Given the description of an element on the screen output the (x, y) to click on. 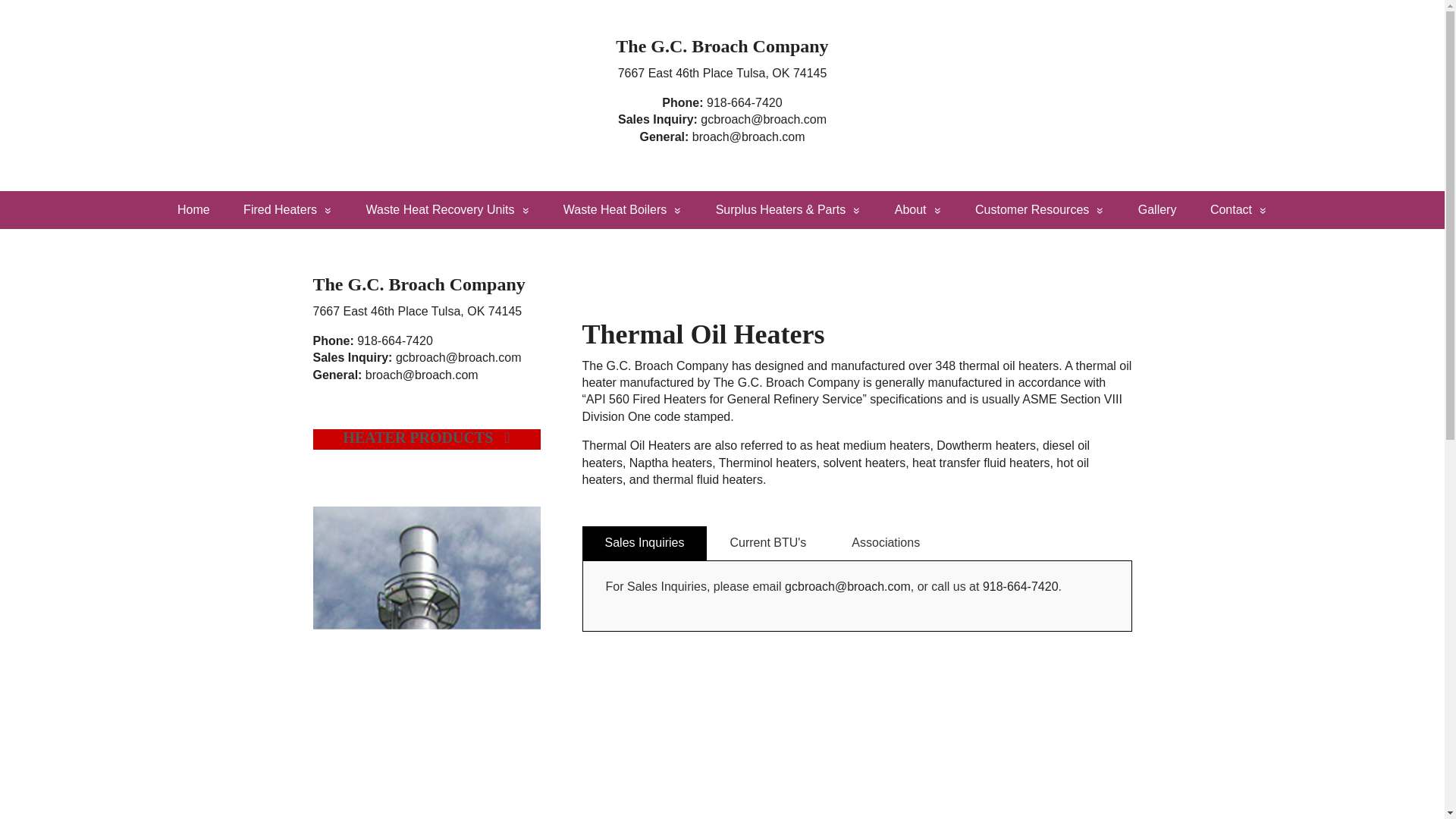
Waste Heat Boilers (622, 209)
918-664-7420 (744, 102)
Home (193, 209)
Fired Heaters (287, 209)
Waste Heat Recovery Units (447, 209)
7667 East 46th Place Tulsa, OK 74145 (722, 72)
